Given the description of an element on the screen output the (x, y) to click on. 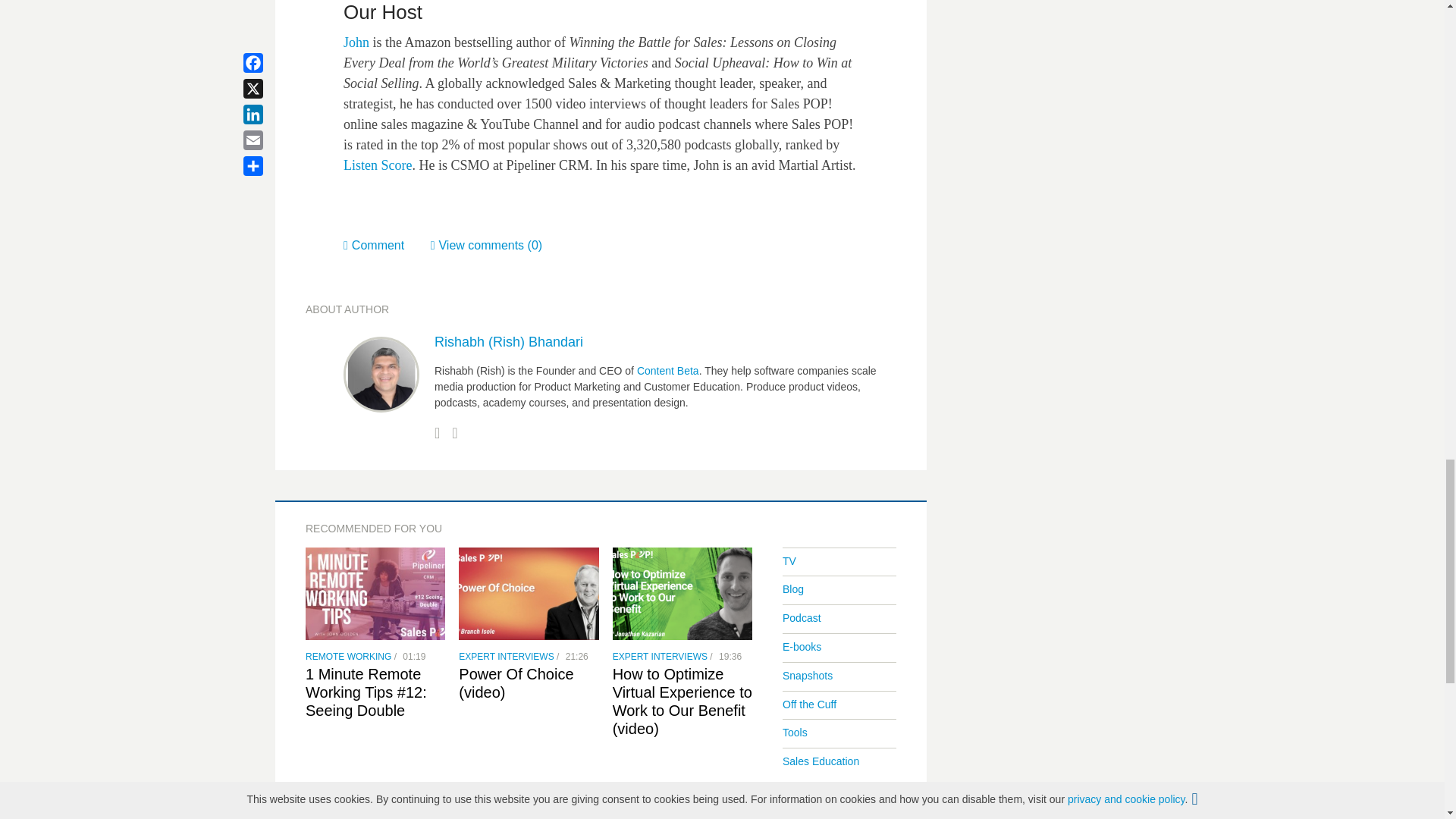
TV (789, 561)
Listen Score (377, 165)
Podcast (802, 617)
Blog (793, 589)
Comment (386, 245)
John (356, 42)
Content Beta (665, 370)
E-books (802, 646)
